Given the description of an element on the screen output the (x, y) to click on. 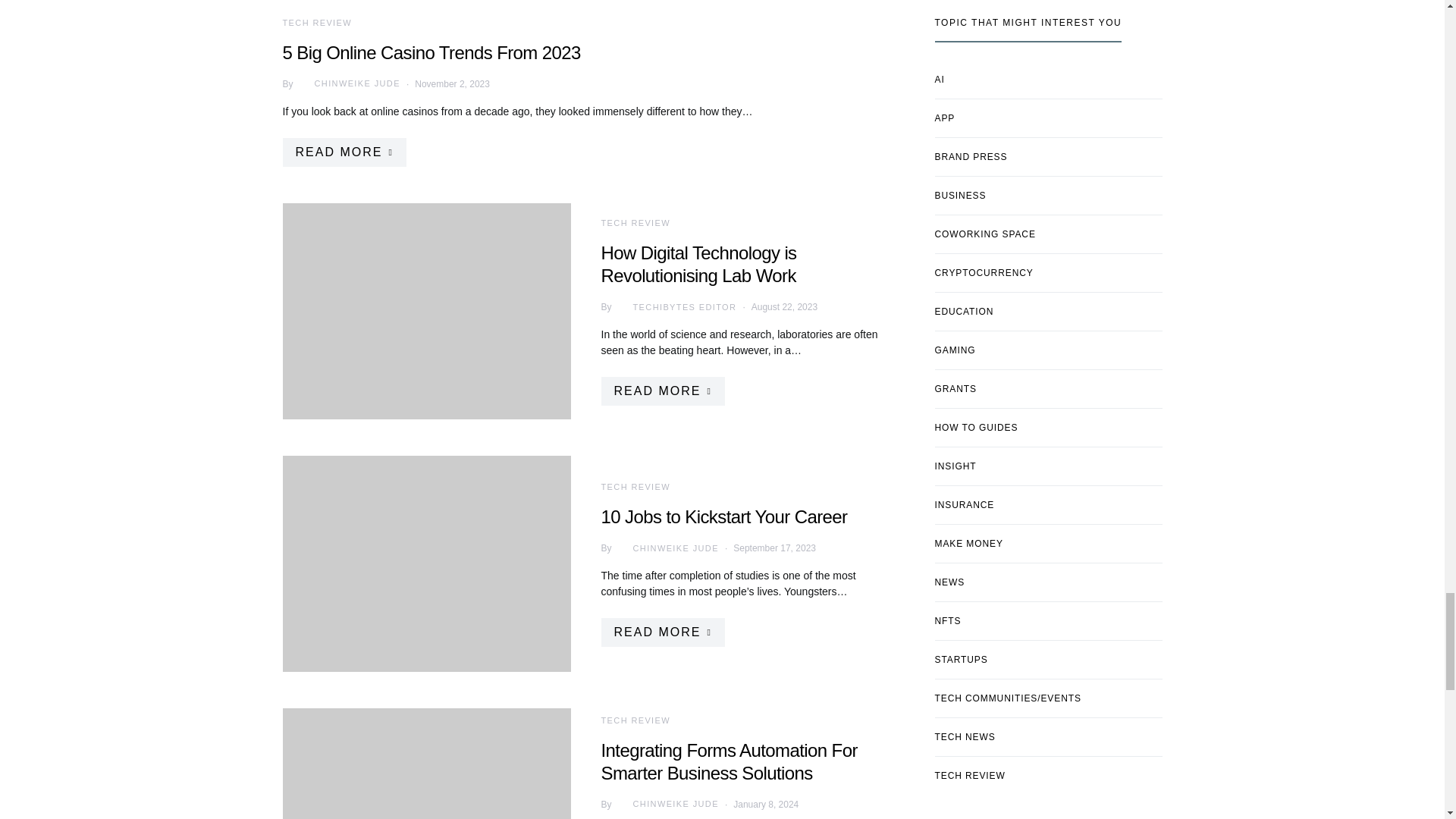
View all posts by Chinweike Jude (665, 548)
View all posts by Chinweike Jude (347, 83)
View all posts by Chinweike Jude (665, 804)
View all posts by Techibytes Editor (673, 306)
How Digital Technology is Revolutionising Lab Work 6 (426, 311)
